Given the description of an element on the screen output the (x, y) to click on. 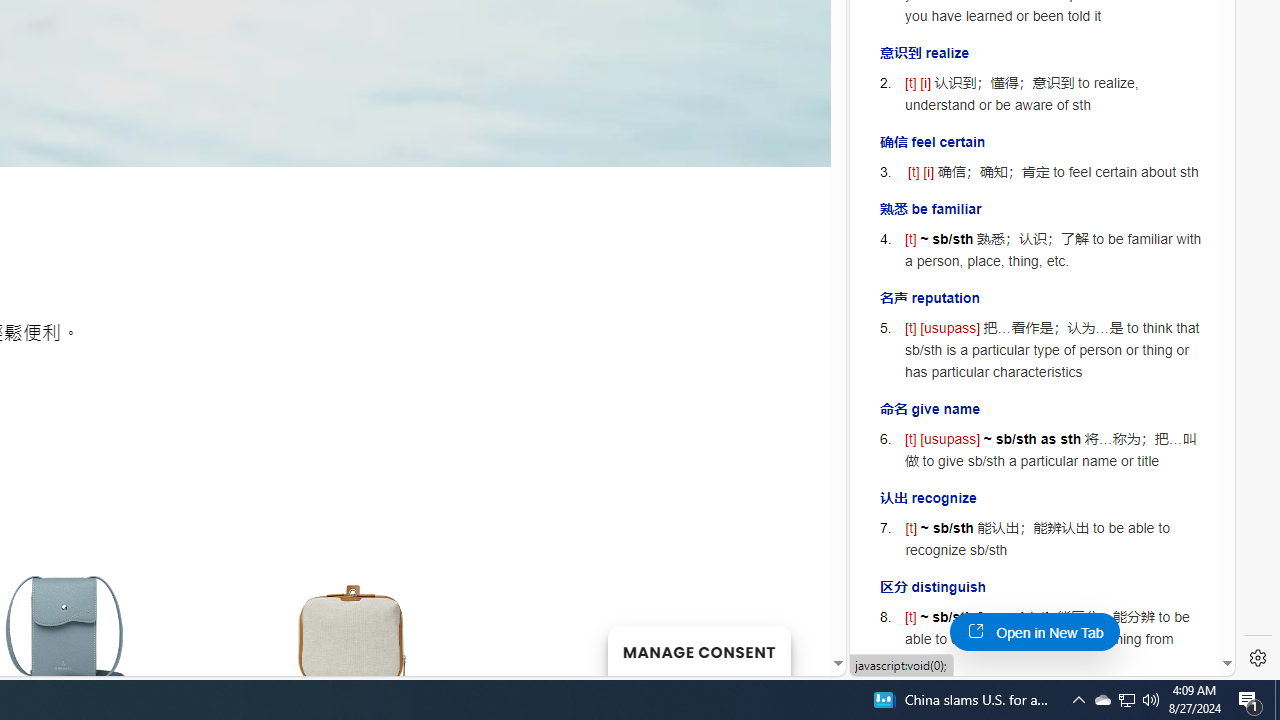
MANAGE CONSENT (698, 650)
